Given the description of an element on the screen output the (x, y) to click on. 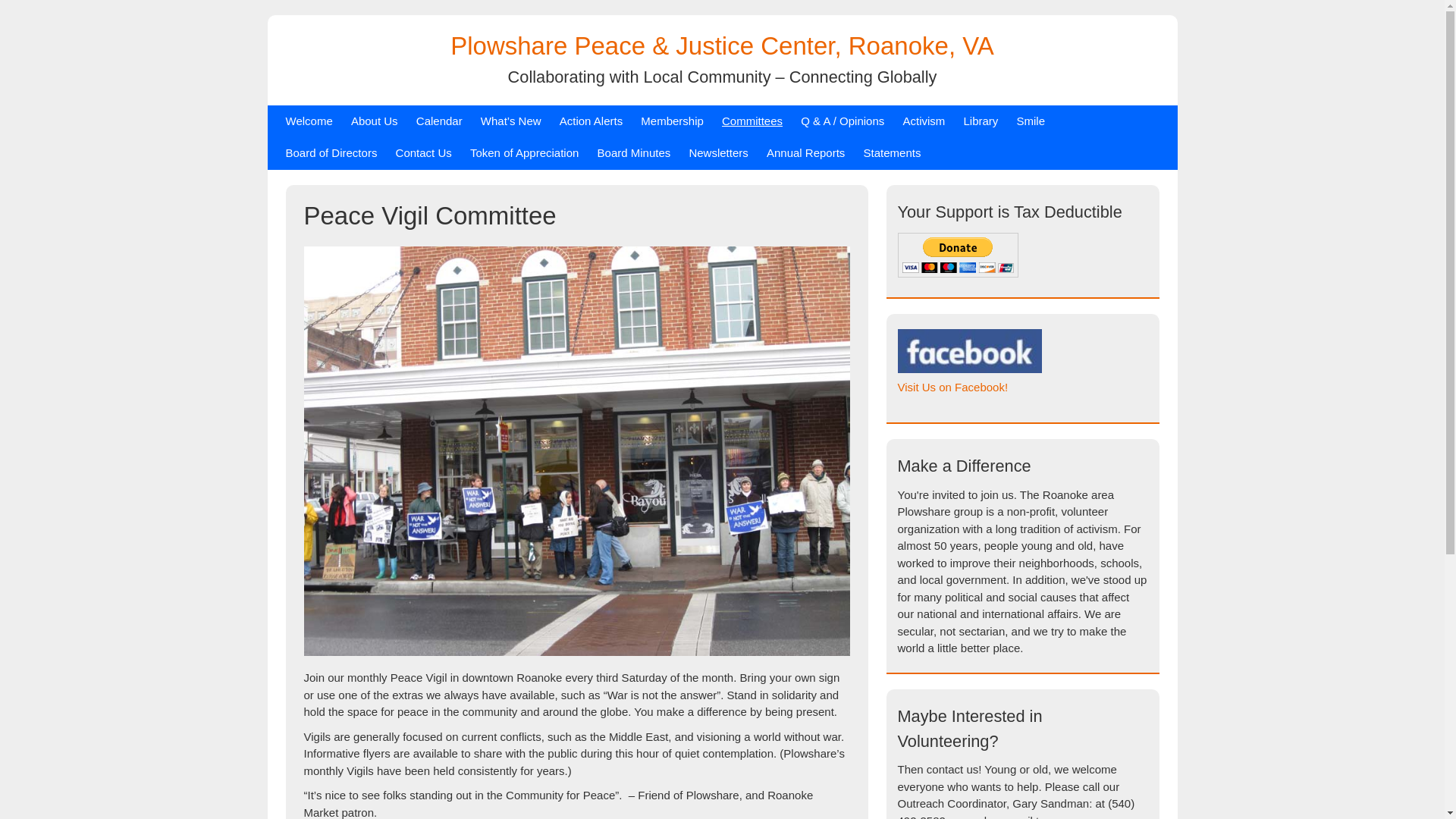
Calendar (439, 121)
Membership (671, 121)
Activism (923, 121)
Committees (752, 121)
Action Alerts (591, 121)
PayPal - The safer, easier way to pay online! (957, 253)
About Us (373, 121)
Welcome (308, 121)
